Given the description of an element on the screen output the (x, y) to click on. 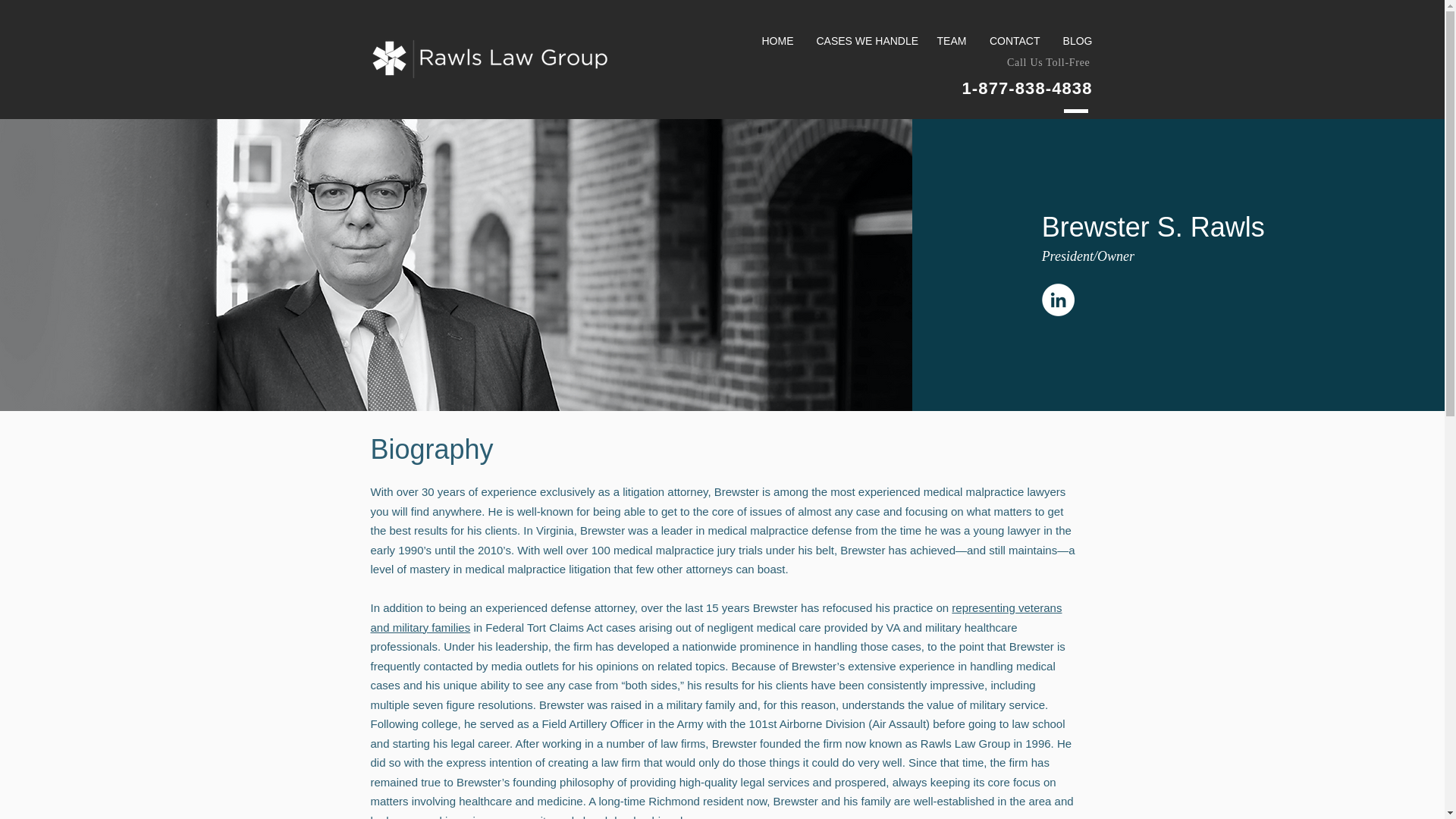
BLOG (1077, 40)
TEAM (950, 40)
HOME (778, 40)
CONTACT (1013, 40)
CASES WE HANDLE (865, 40)
representing veterans and military families (715, 617)
